Given the description of an element on the screen output the (x, y) to click on. 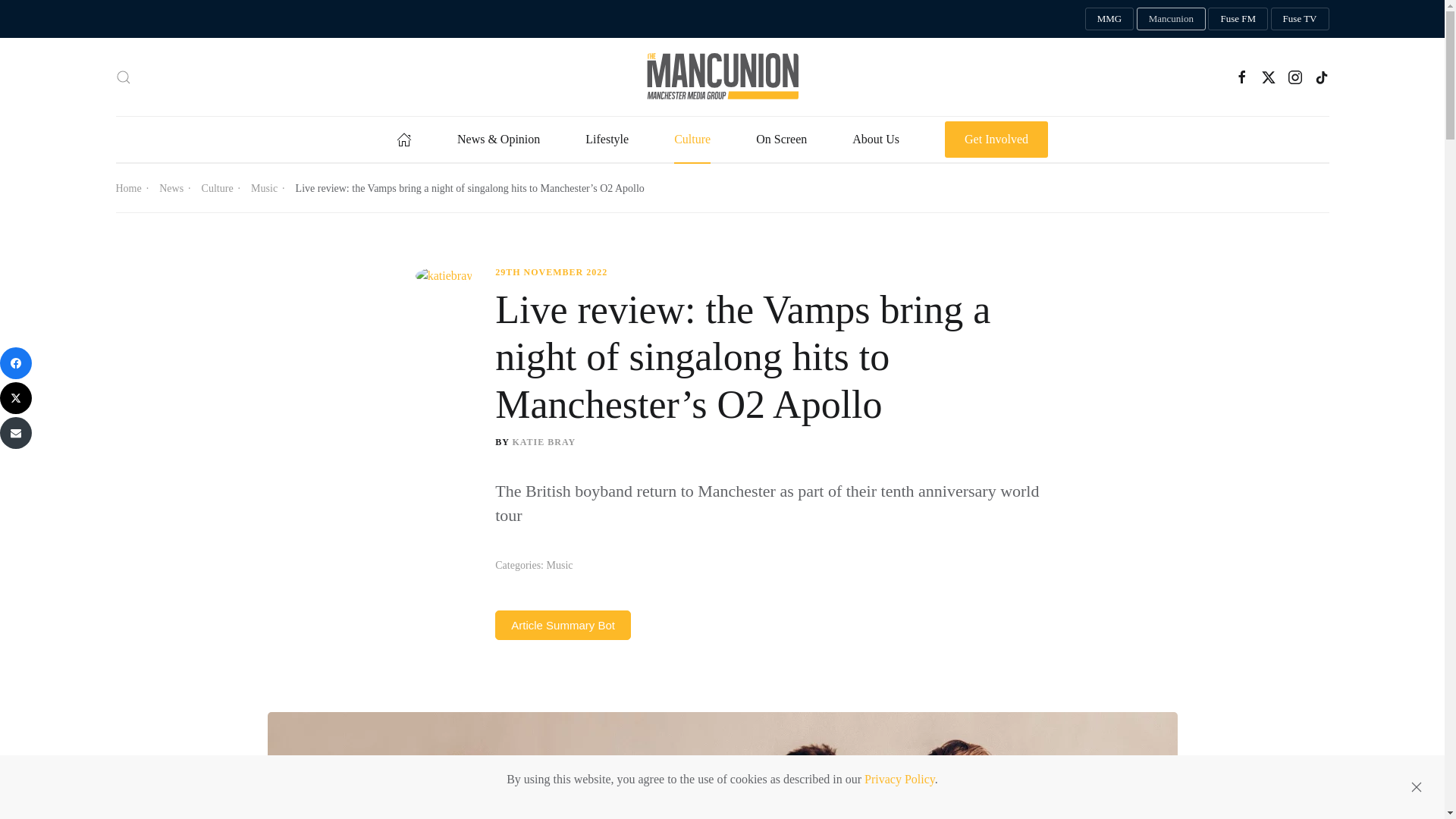
Posts by Katie Bray (543, 441)
Fuse TV (1300, 18)
Fuse FM (1238, 18)
Manchester University Mancunion Newspaper (1171, 18)
Manchester Media Group (1109, 18)
Mancunion (1171, 18)
Manchester Fuse TV (1300, 18)
Manchester Fuse FM (1238, 18)
MMG (1109, 18)
